Given the description of an element on the screen output the (x, y) to click on. 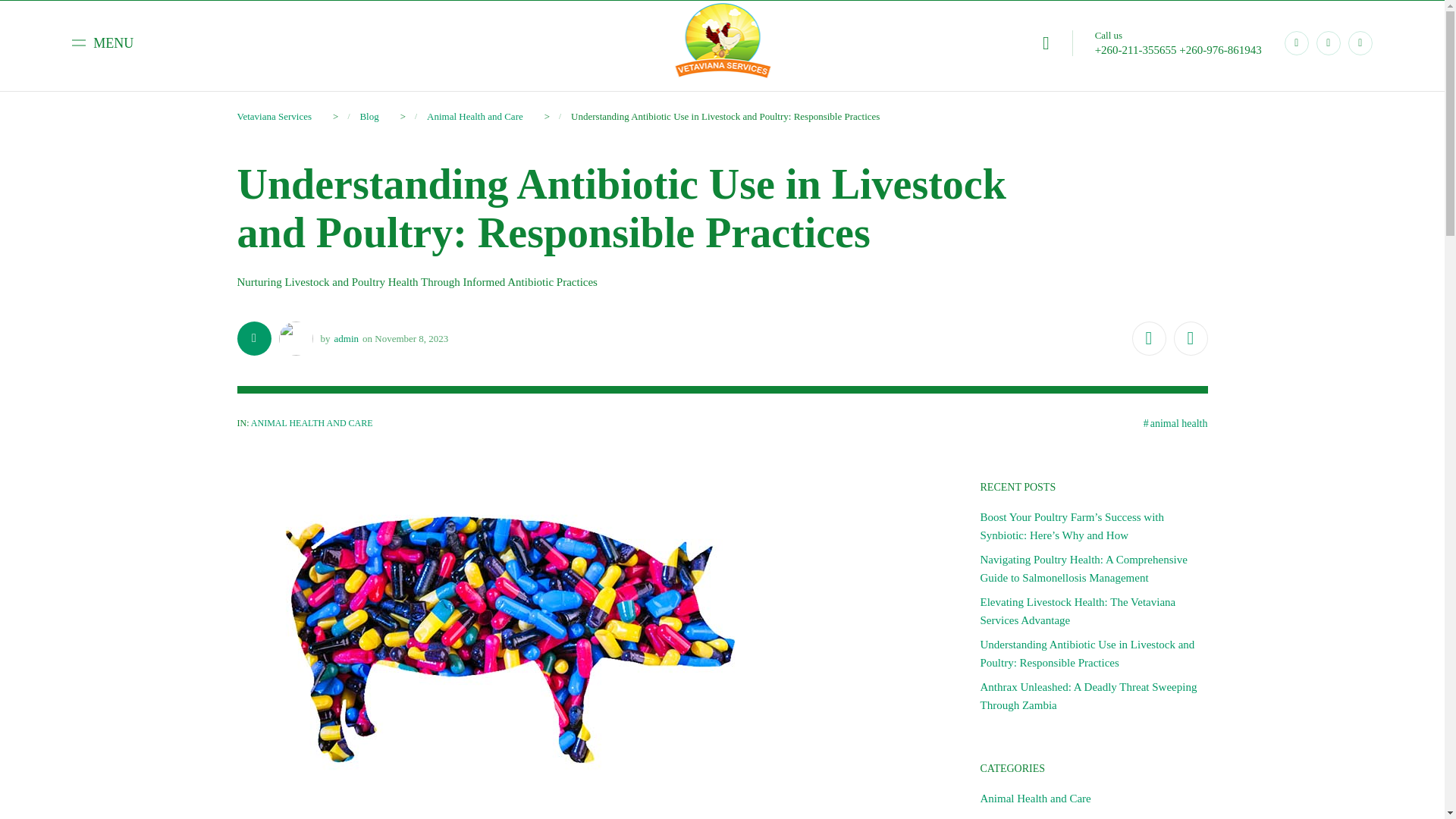
ANIMAL HEALTH AND CARE (311, 422)
Go to Blog. (368, 116)
Elevating Livestock Health: The Vetaviana Services Advantage (1076, 611)
Go to Vetaviana Services. (273, 116)
animal health (1175, 423)
Posts by admin (345, 337)
Go to the Animal Health and Care Category archives. (474, 116)
Blog (368, 116)
Animal Health and Care (1034, 817)
Animal Health and Care (1034, 798)
Animal Health and Care (474, 116)
Vetaviana Services (273, 116)
Anthrax Unleashed: A Deadly Threat Sweeping Through Zambia (1087, 695)
